Given the description of an element on the screen output the (x, y) to click on. 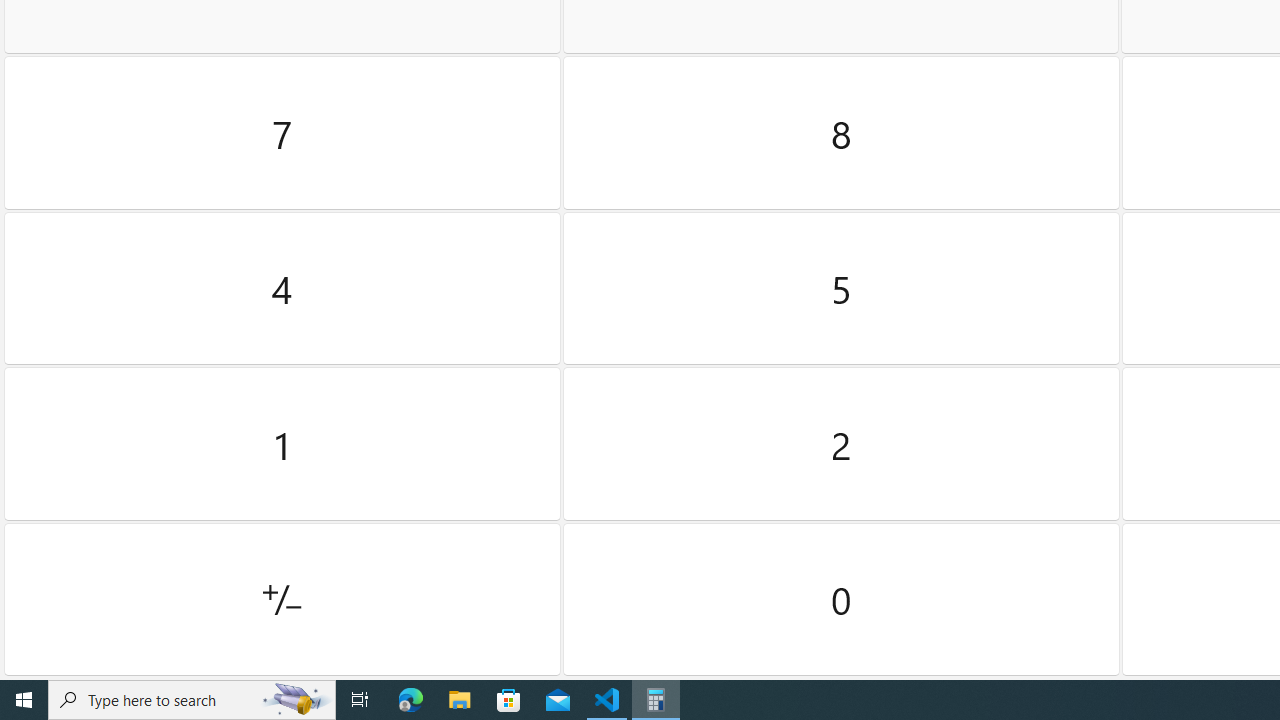
Eight (841, 133)
Seven (281, 133)
